Given the description of an element on the screen output the (x, y) to click on. 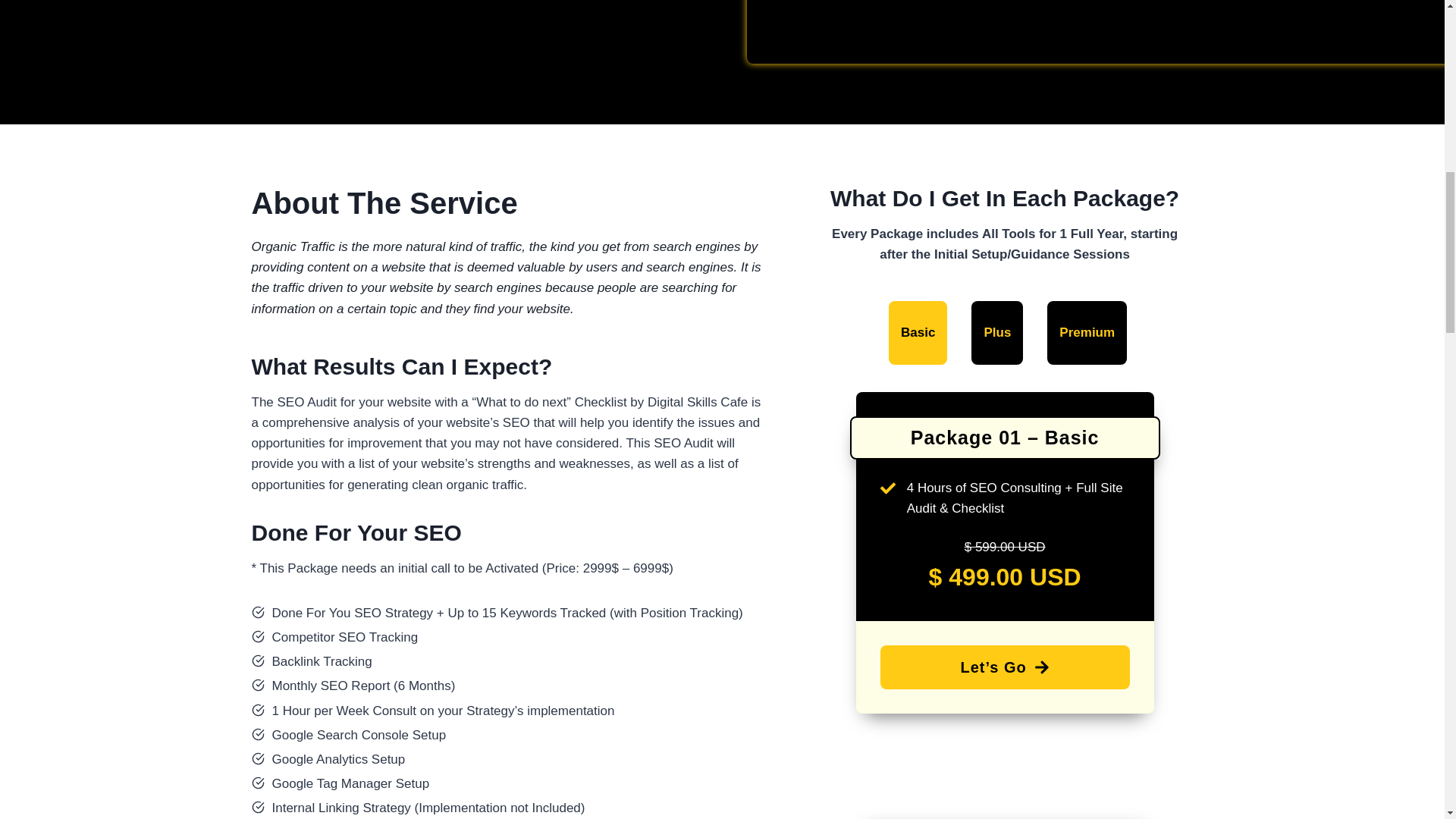
Basic (917, 332)
Premium (1086, 332)
